Given the description of an element on the screen output the (x, y) to click on. 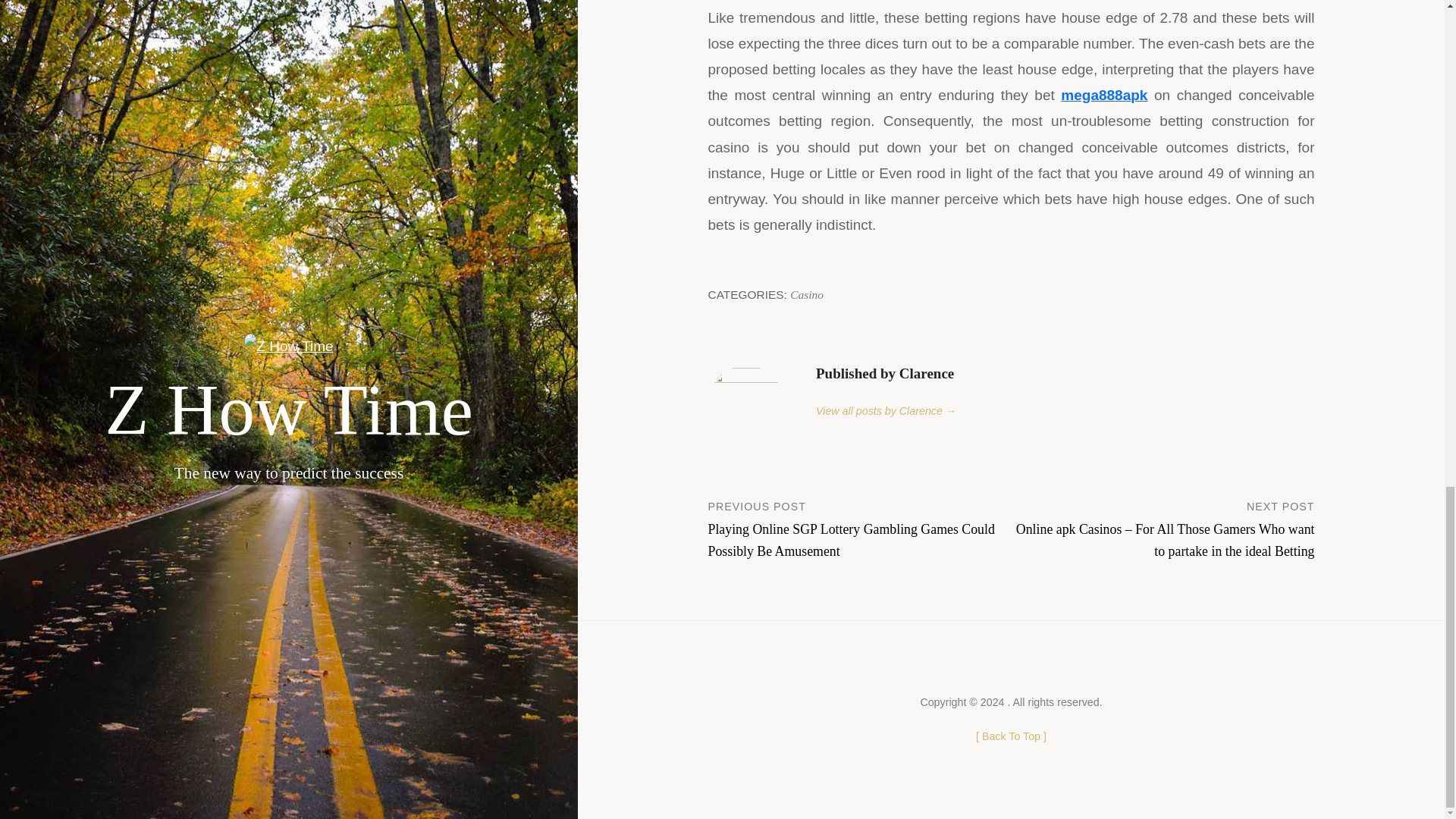
Casino (807, 294)
mega888apk (1104, 94)
Back To Top (1010, 736)
